Given the description of an element on the screen output the (x, y) to click on. 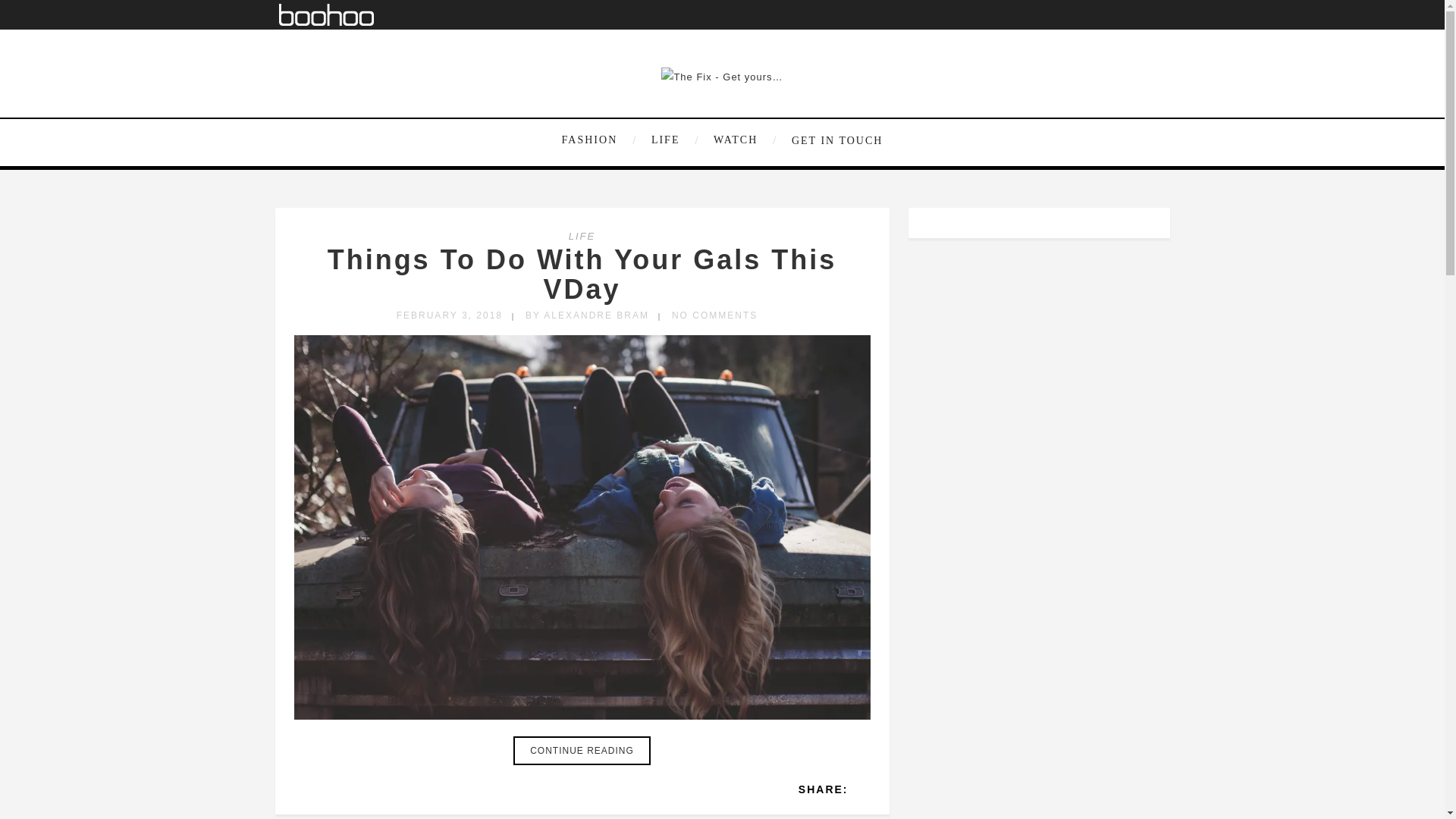
Permanent Link to Things To Do With Your Gals This VDay (582, 274)
